Given the description of an element on the screen output the (x, y) to click on. 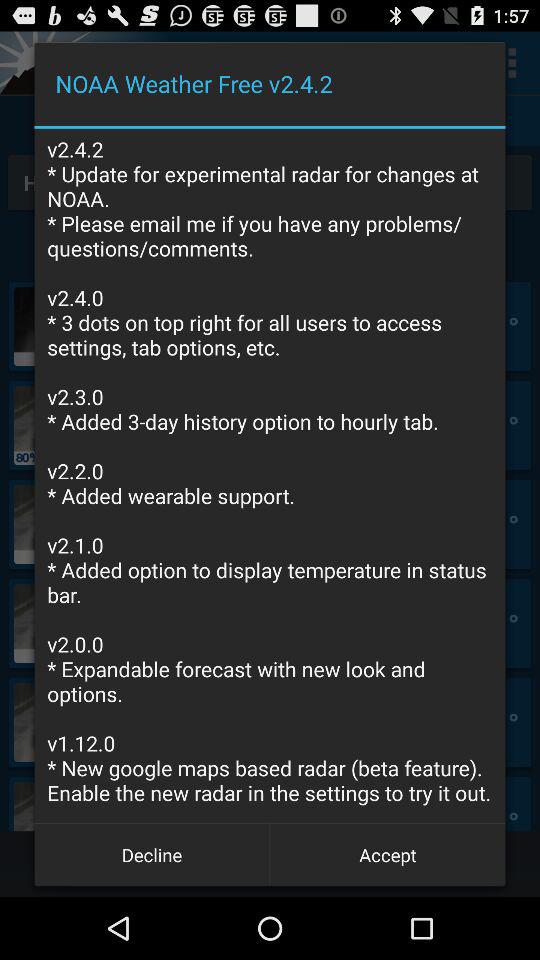
select the accept button (387, 854)
